Given the description of an element on the screen output the (x, y) to click on. 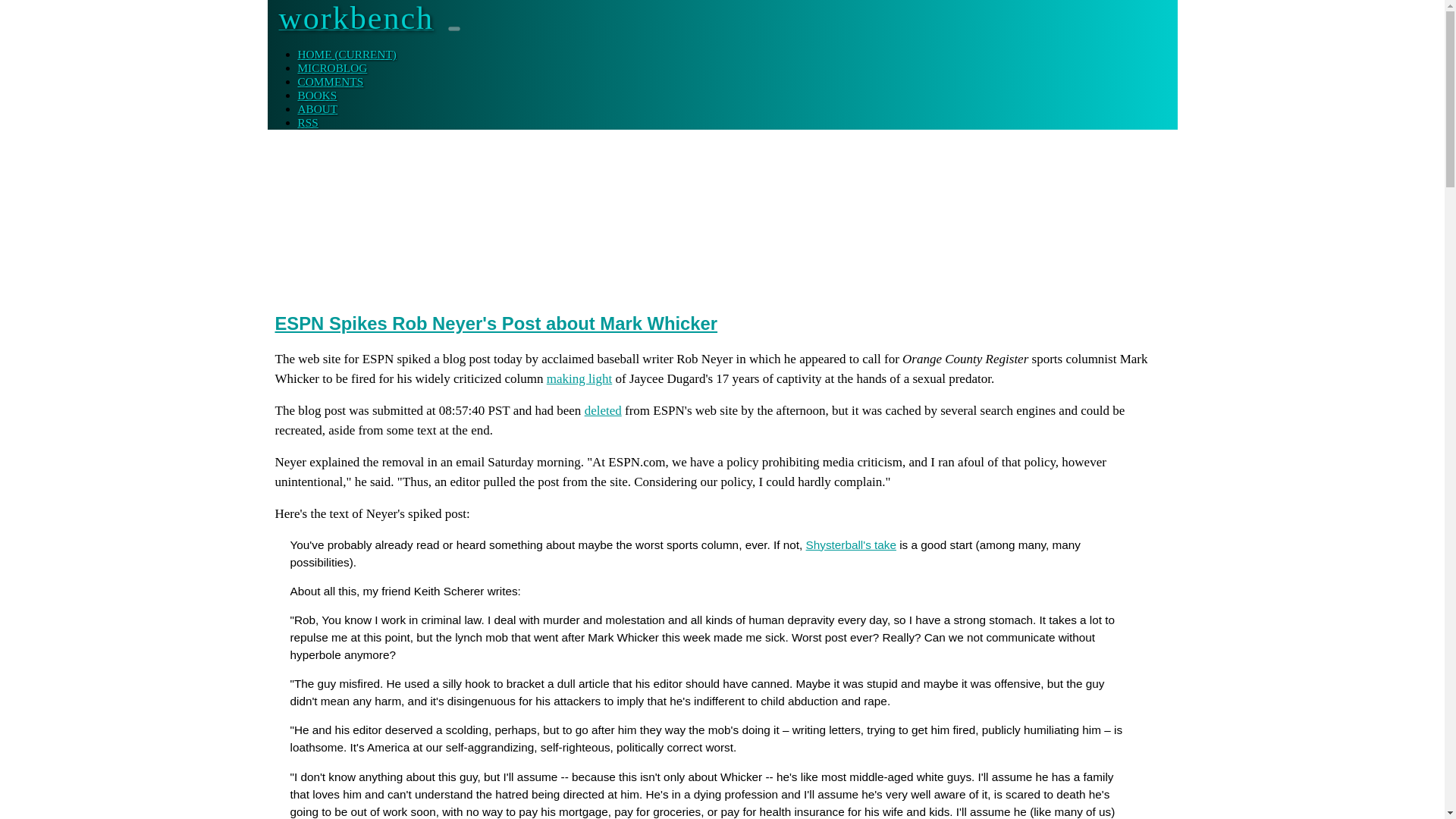
ABOUT (317, 108)
MICROBLOG (331, 67)
BOOKS (316, 94)
Advertisement (551, 256)
RSS (307, 122)
workbench (355, 24)
ESPN Spikes Rob Neyer's Post about Mark Whicker (496, 322)
Shysterball's take (851, 544)
making light (579, 378)
deleted (603, 410)
COMMENTS (329, 81)
